Given the description of an element on the screen output the (x, y) to click on. 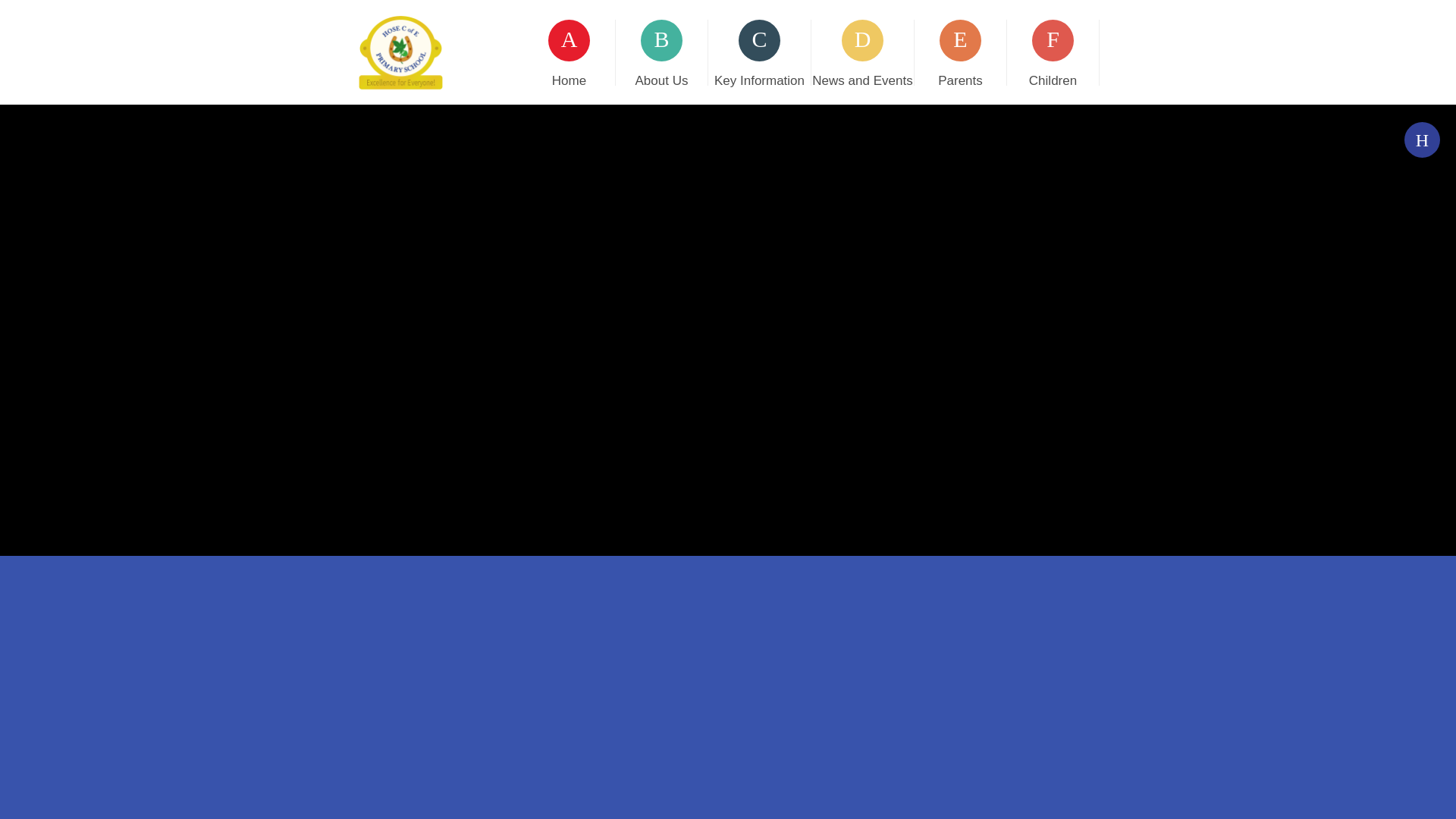
About Us (661, 51)
Home Page (400, 51)
Key Information (758, 51)
Home (568, 51)
